Given the description of an element on the screen output the (x, y) to click on. 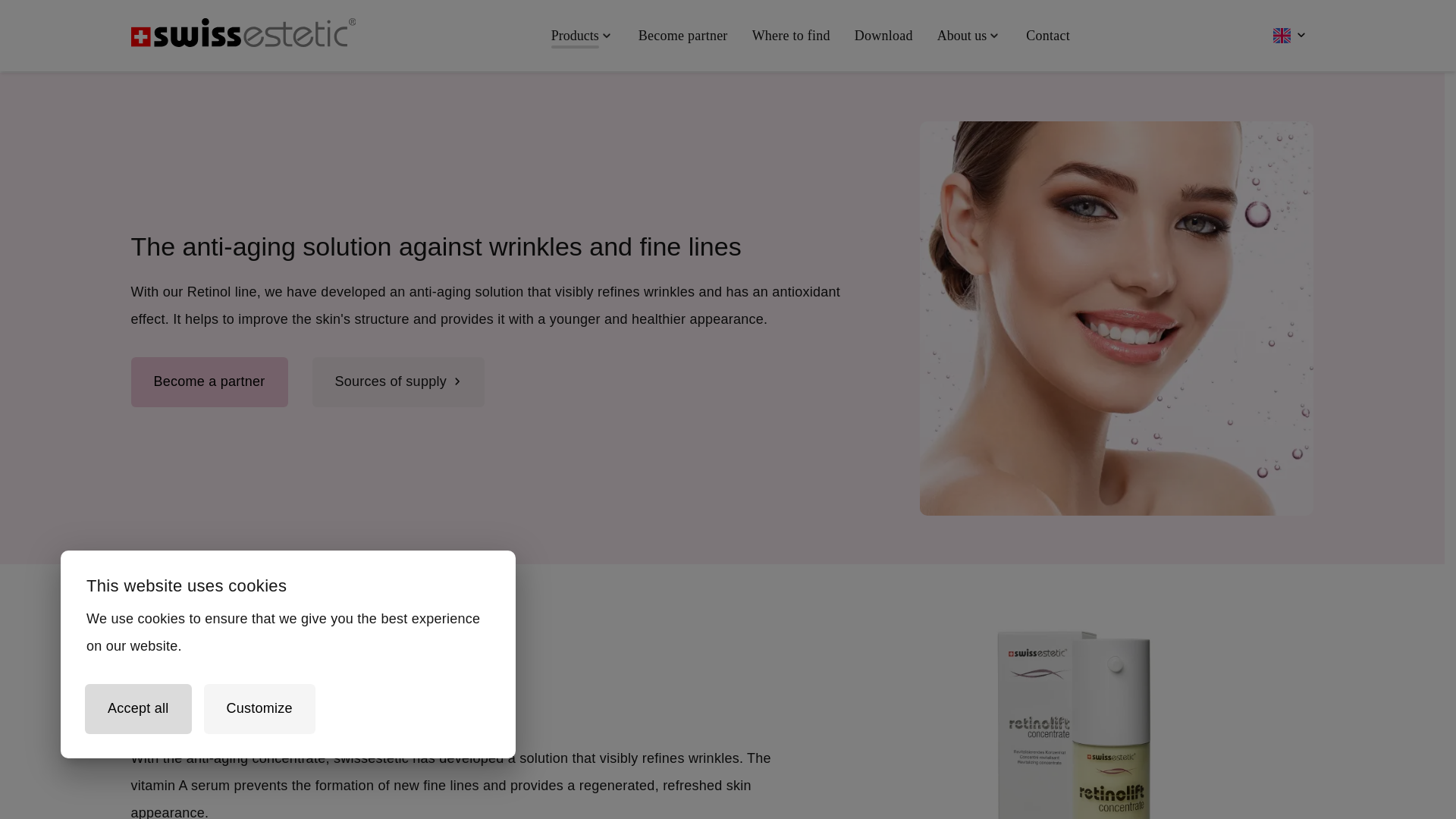
Sources of supply (398, 382)
Where to find (791, 35)
About us (969, 35)
Contact (1047, 35)
Become partner (682, 35)
Become a partner (208, 382)
Download (883, 35)
Products (582, 35)
